Given the description of an element on the screen output the (x, y) to click on. 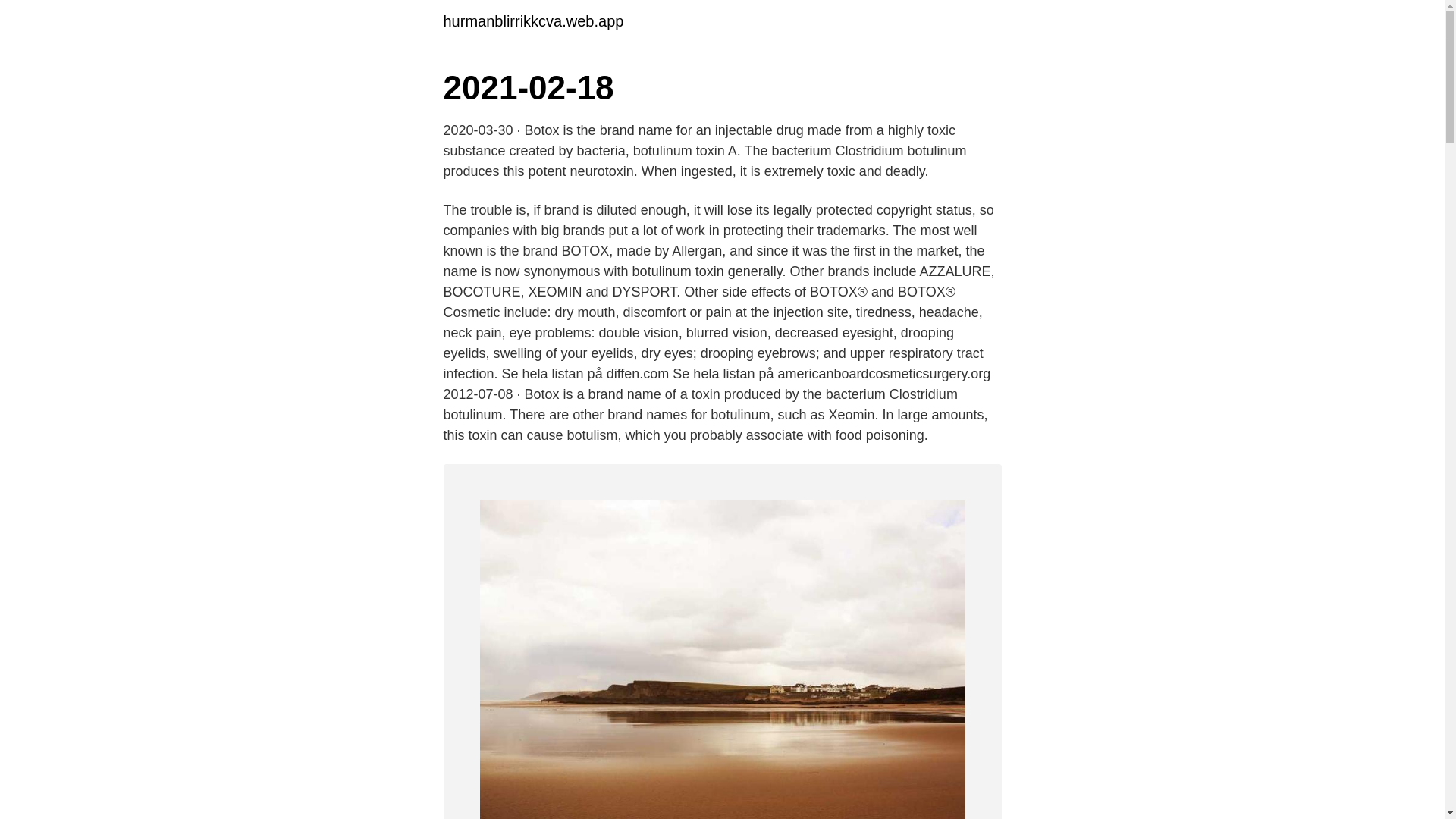
hurmanblirrikkcva.web.app (532, 20)
